Given the description of an element on the screen output the (x, y) to click on. 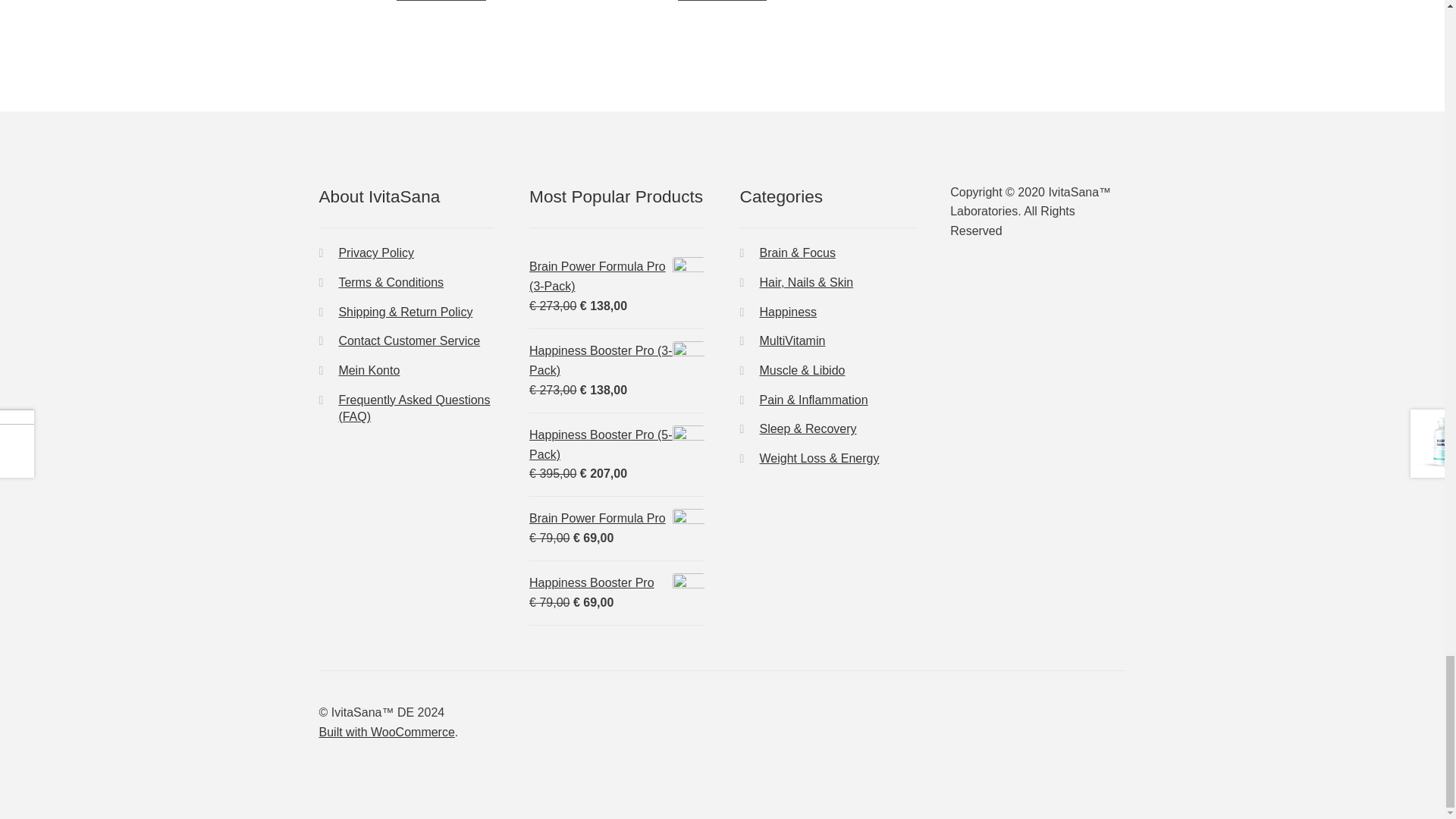
Contact Customer Service (408, 340)
Brain Power Formula Pro (616, 518)
Happiness Booster Pro (616, 582)
Mein Konto (367, 369)
Privacy Policy (375, 252)
